Given the description of an element on the screen output the (x, y) to click on. 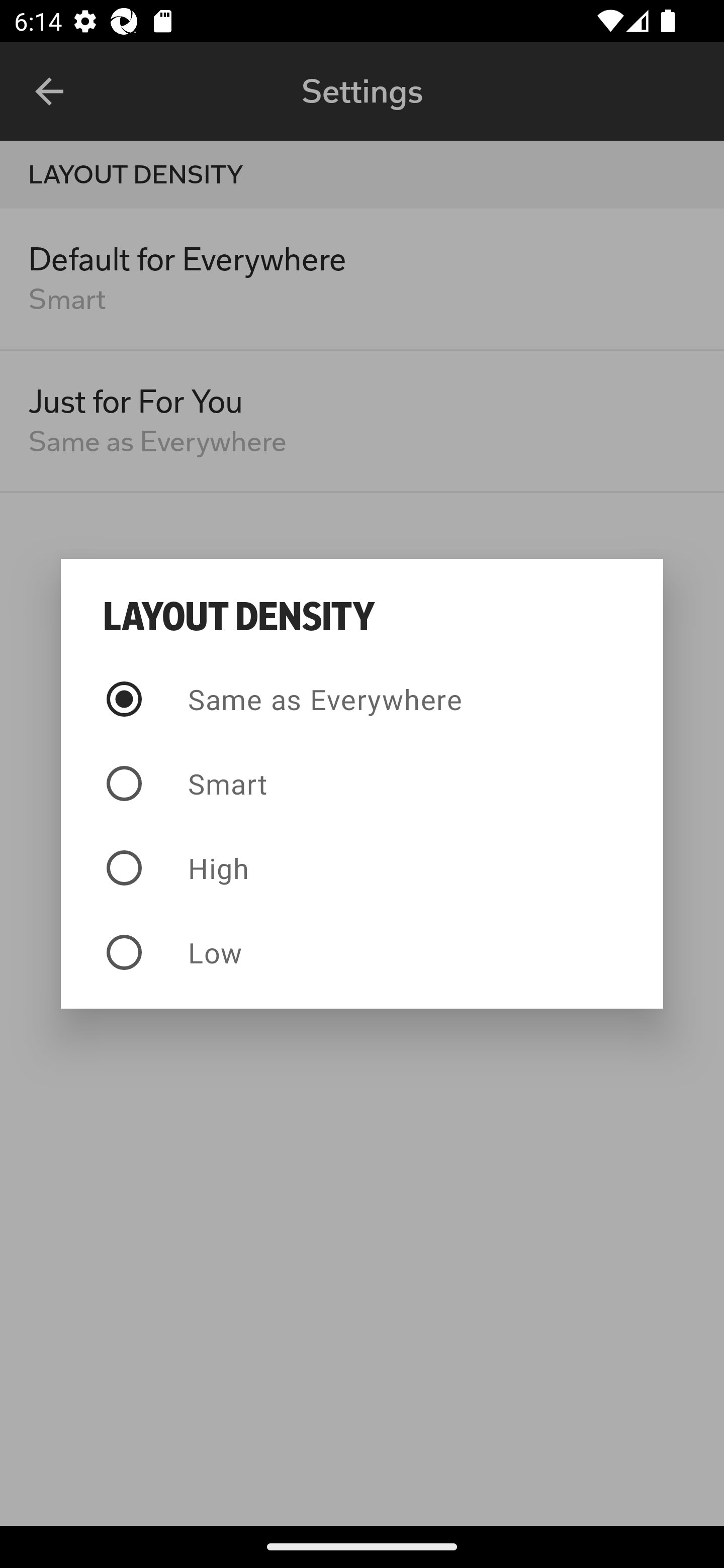
Same as Everywhere (361, 698)
Smart (361, 783)
High (361, 867)
Low (361, 951)
